Given the description of an element on the screen output the (x, y) to click on. 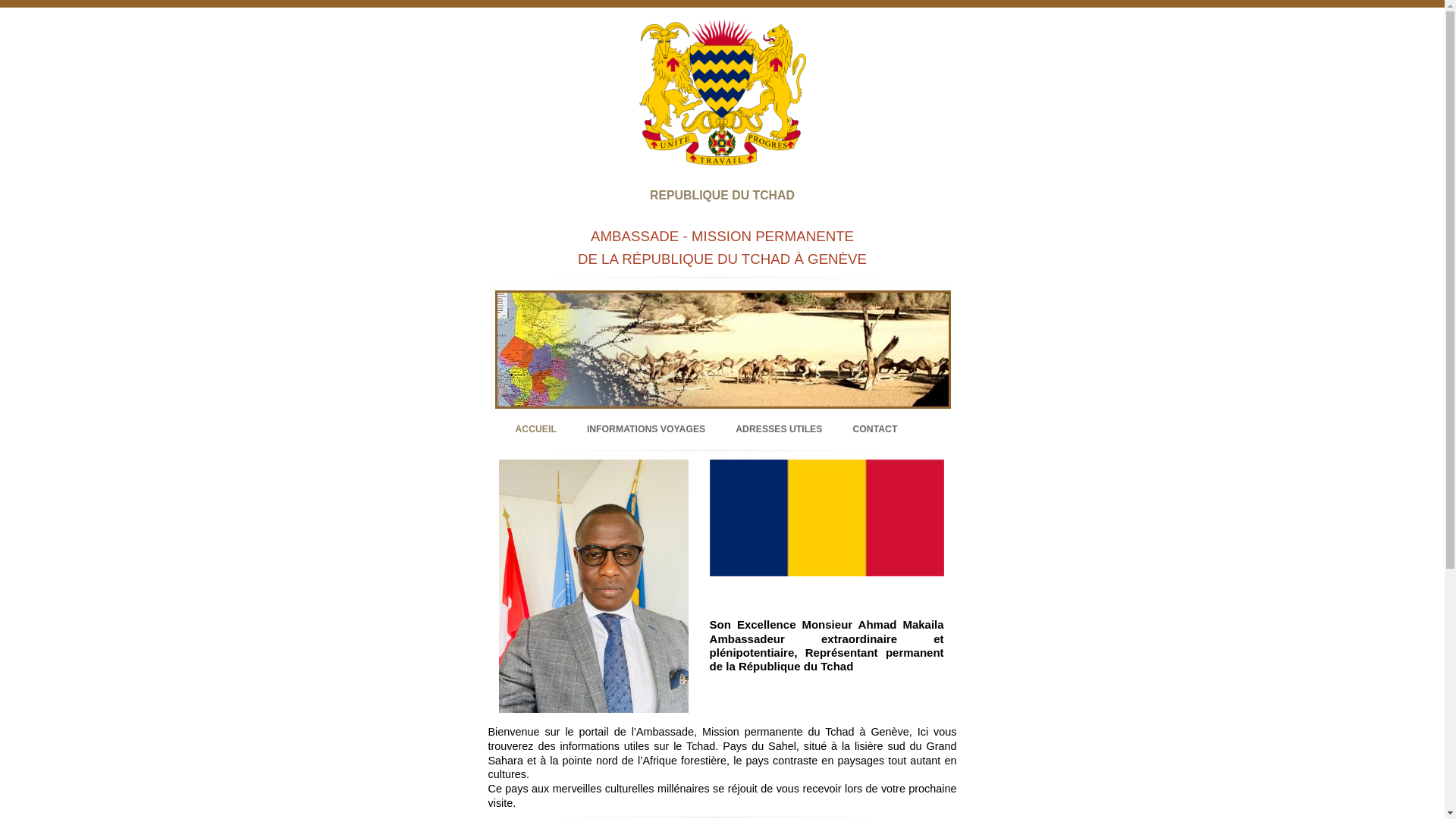
INFORMATIONS VOYAGES Element type: text (645, 428)
CONTACT Element type: text (874, 428)
ACCUEIL Element type: text (535, 428)
ADRESSES UTILES Element type: text (778, 428)
